Given the description of an element on the screen output the (x, y) to click on. 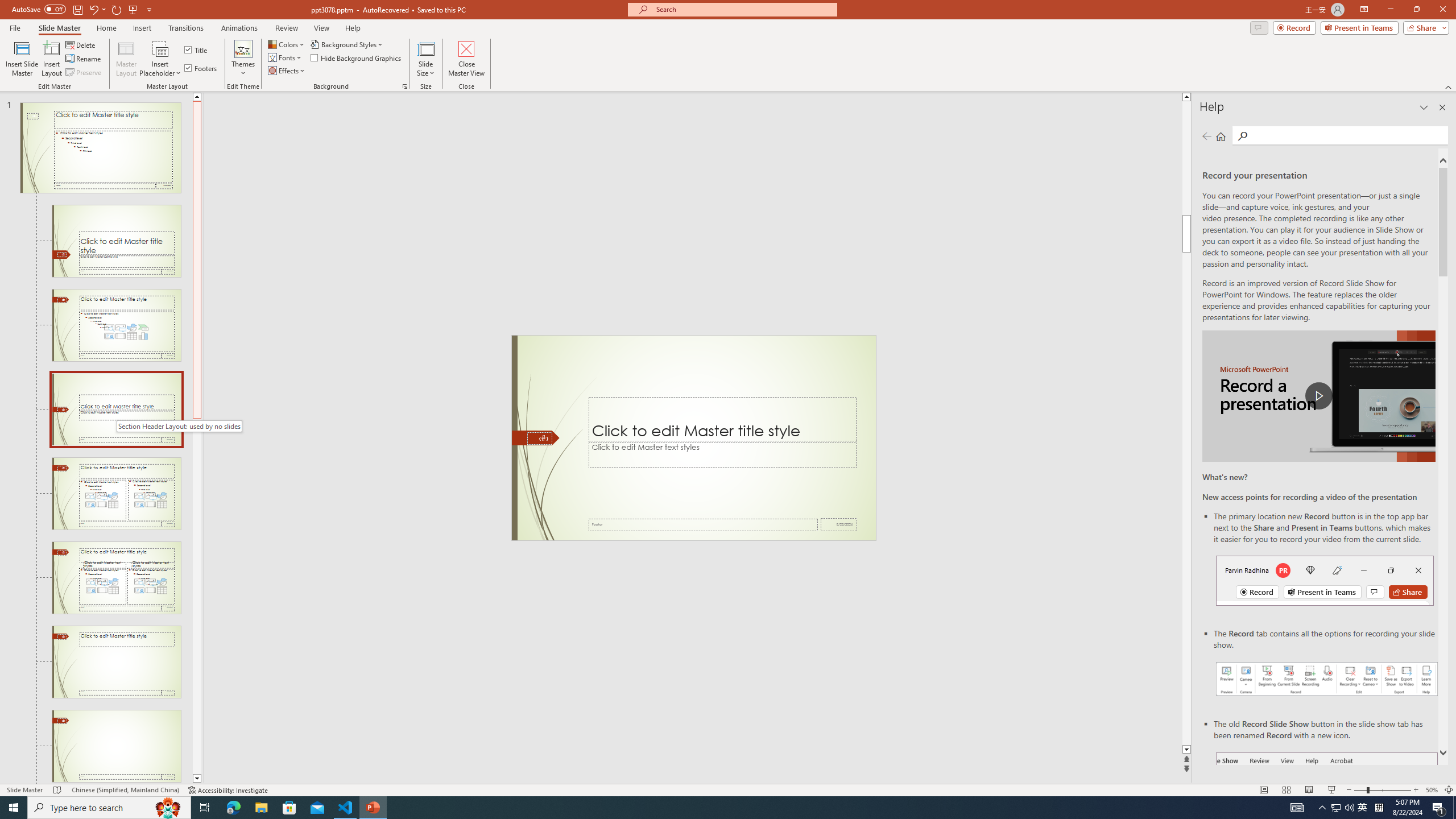
Slide Master (59, 28)
Zoom 50% (1431, 790)
Record button in top bar (1324, 580)
Insert Placeholder (160, 58)
Background Styles (347, 44)
